Given the description of an element on the screen output the (x, y) to click on. 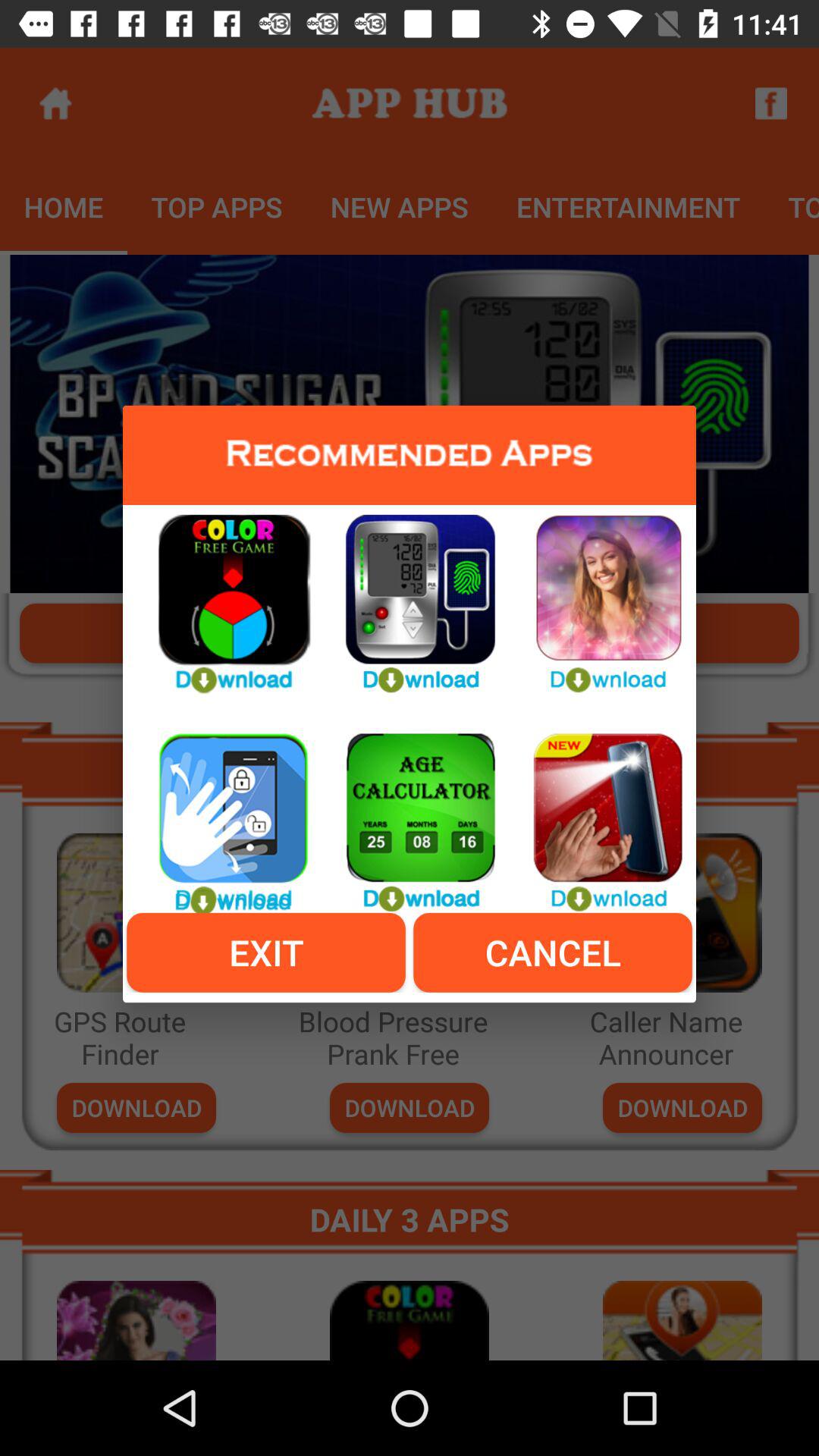
click to download the app (409, 594)
